Given the description of an element on the screen output the (x, y) to click on. 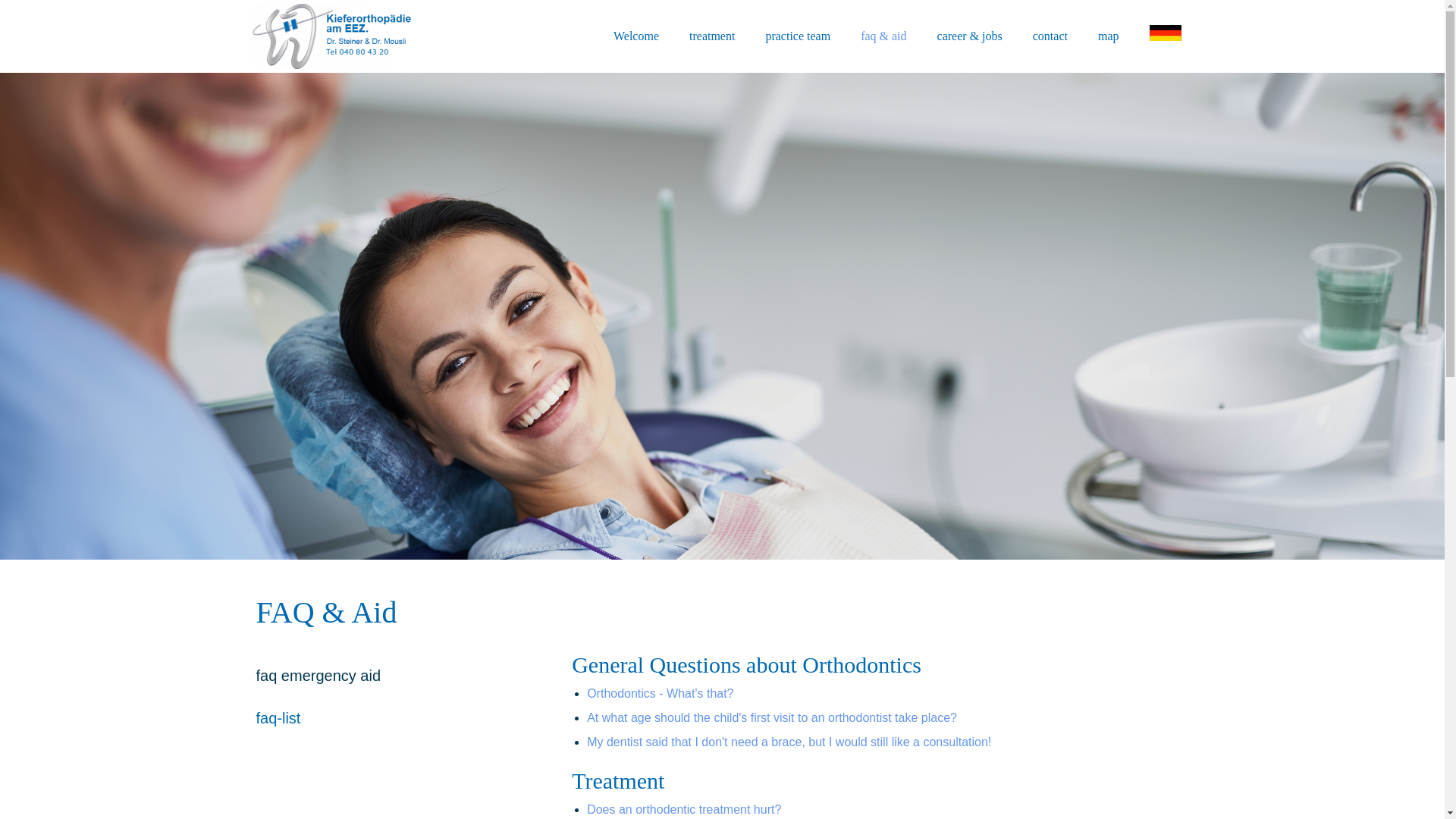
Orthodontics - What's that? (659, 693)
Zur Seite: Welcome (636, 36)
practice team (797, 36)
contact (1050, 36)
Does an orthodentic treatment hurt? (683, 809)
faq emergency aid (318, 675)
Welcome (636, 36)
treatment (711, 36)
Zur deutschen Website (1165, 21)
Zur Seite: contact (1050, 36)
Zur Seite: treatment (711, 36)
Zur Seite: practice team (797, 36)
faq-list (278, 718)
